Given the description of an element on the screen output the (x, y) to click on. 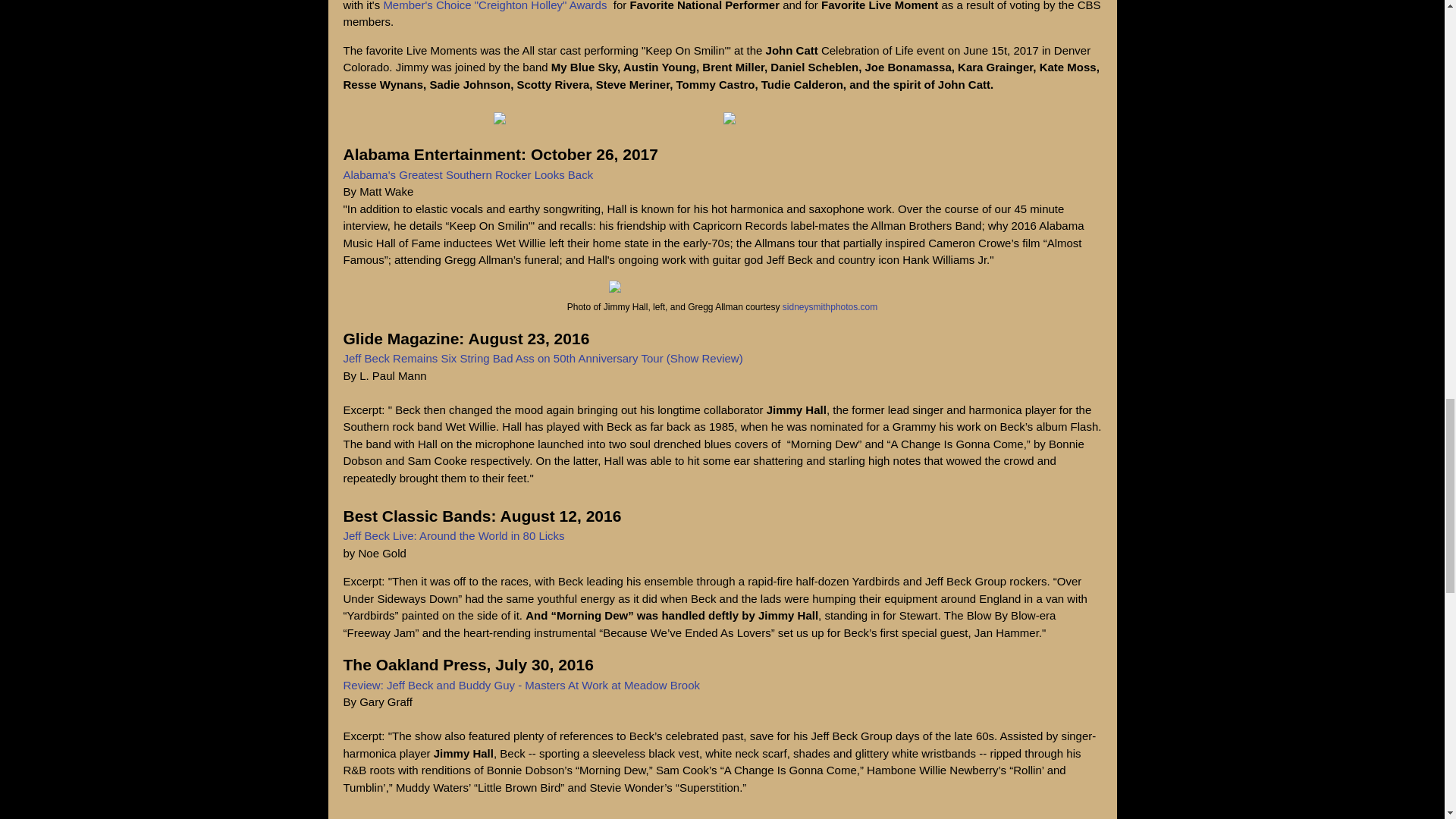
Jeff Beck Live: Around the World in 80 Licks (453, 535)
sidneysmithphotos.com (830, 307)
Member's Choice "Creighton Holley" Awards  (496, 5)
Alabama's Greatest Southern Rocker Looks Back (467, 174)
